Given the description of an element on the screen output the (x, y) to click on. 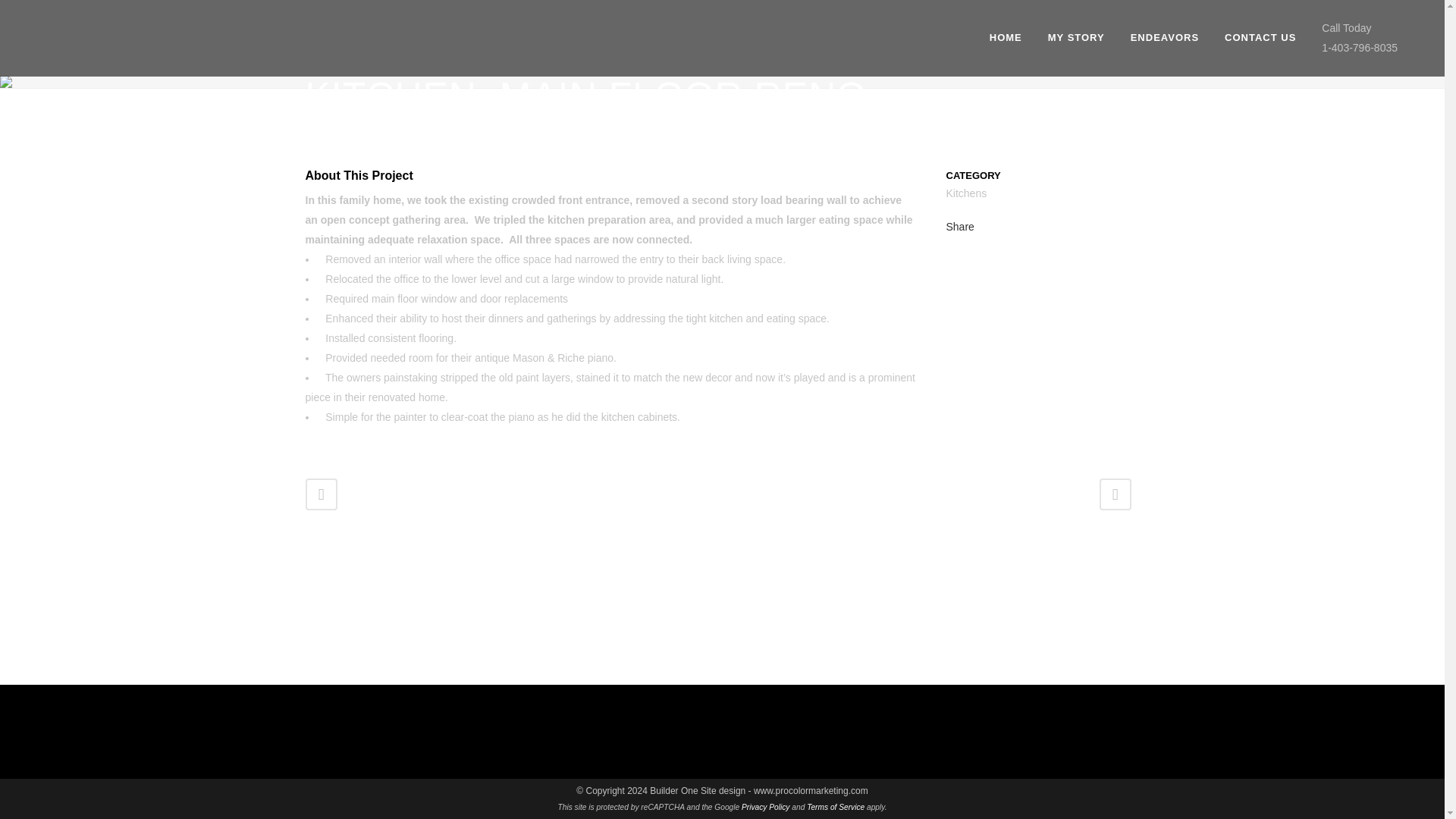
ENDEAVORS (1164, 38)
Share (960, 226)
CONTACT US (1259, 38)
MY STORY (1076, 38)
